Given the description of an element on the screen output the (x, y) to click on. 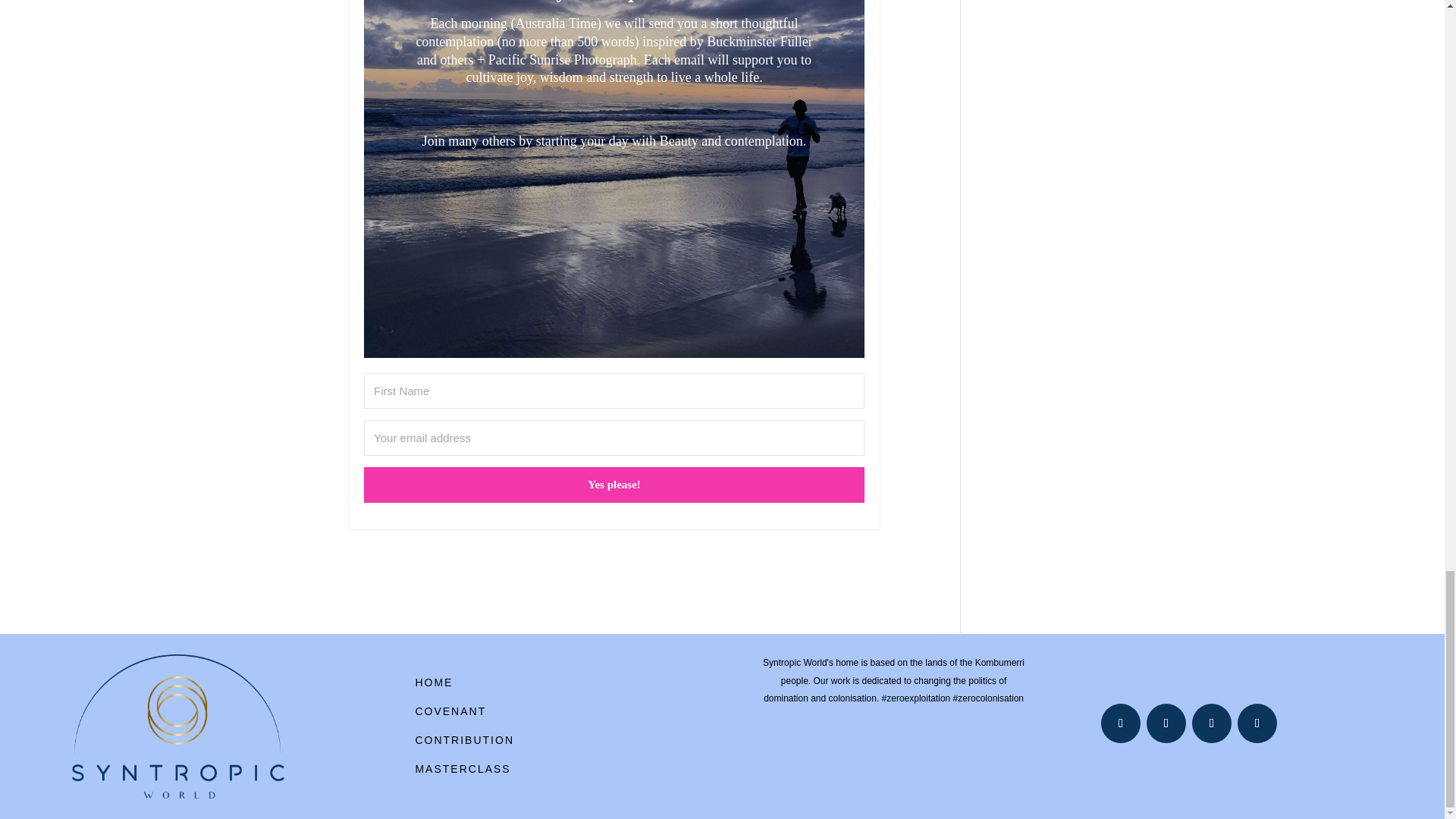
Follow on Instagram (1256, 722)
Follow on X (1166, 722)
SyntropicWorld (177, 726)
Follow on LinkedIn (1211, 722)
Follow on Facebook (1120, 722)
